Given the description of an element on the screen output the (x, y) to click on. 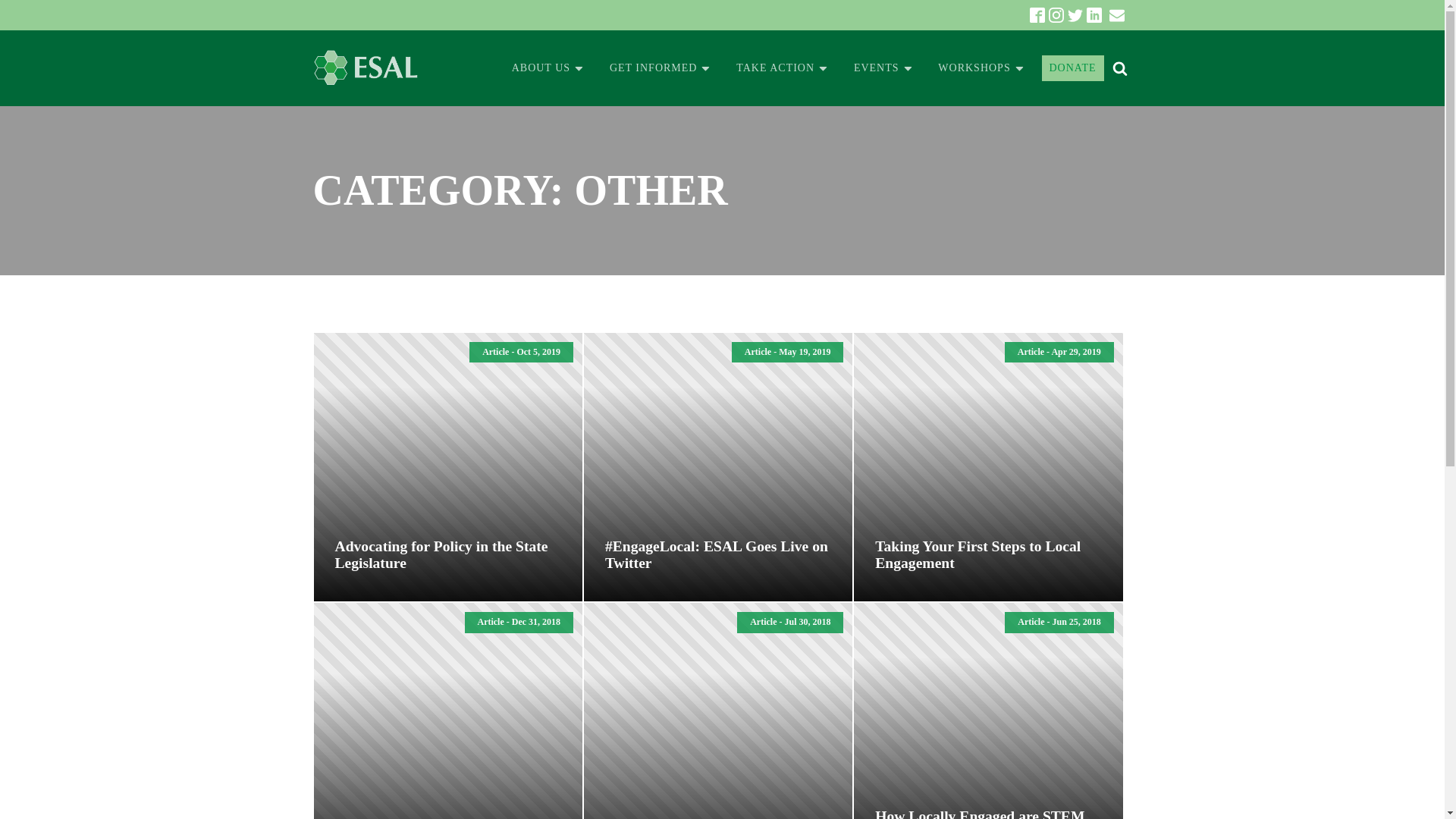
Advocating for Policy in the State Legislature (447, 554)
Article - Apr 29, 2019 (987, 466)
EVENTS (883, 68)
GET INFORMED (659, 68)
Article - Dec 31, 2018 (448, 710)
Taking Your First Steps to Local Engagement (987, 554)
DONATE (1072, 68)
Article - Oct 5, 2019 (448, 466)
WORKSHOPS (981, 68)
Article - May 19, 2019 (717, 466)
